Given the description of an element on the screen output the (x, y) to click on. 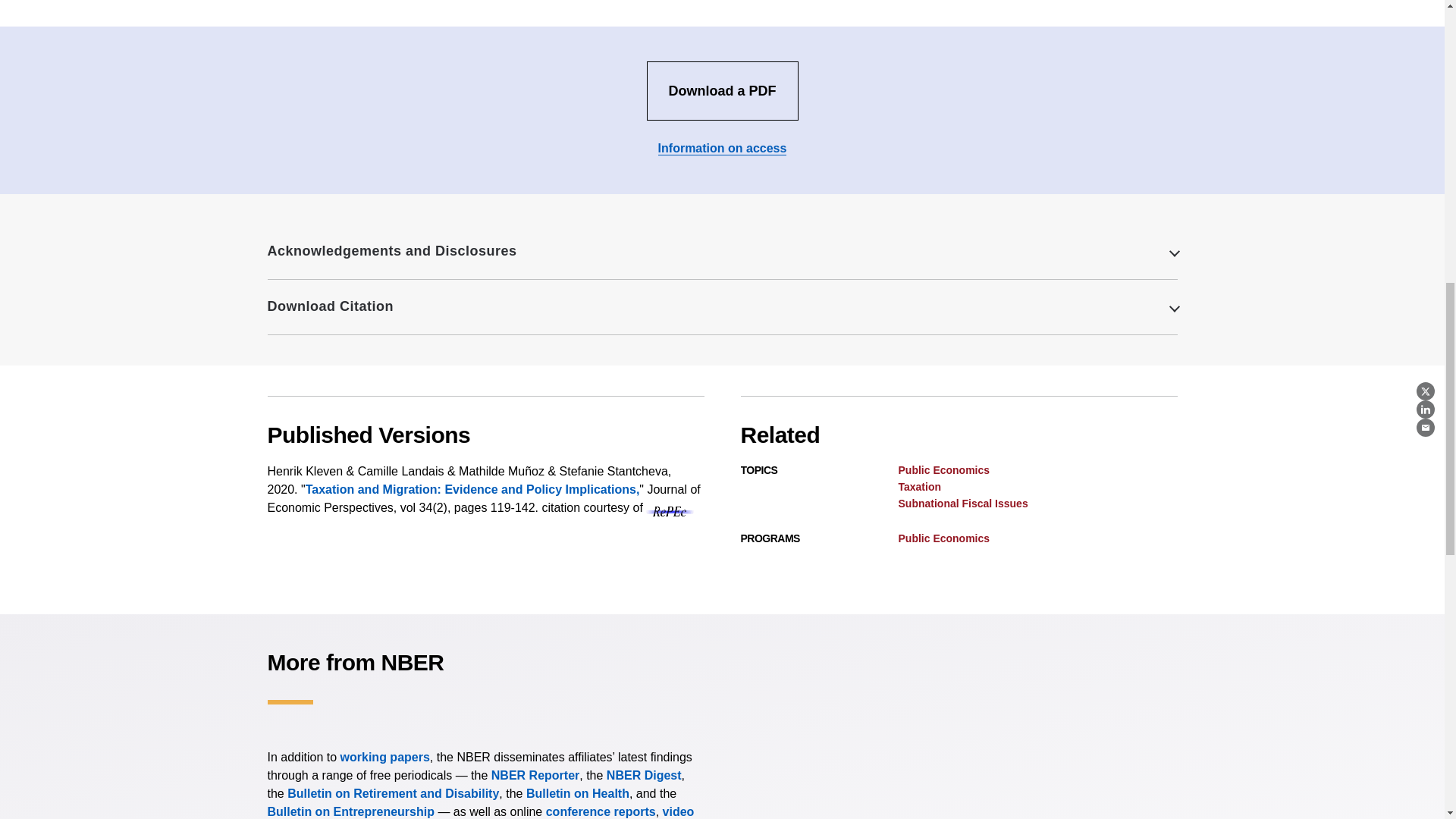
Working Papers (384, 757)
Conferences (601, 811)
Lectures (480, 812)
